Given the description of an element on the screen output the (x, y) to click on. 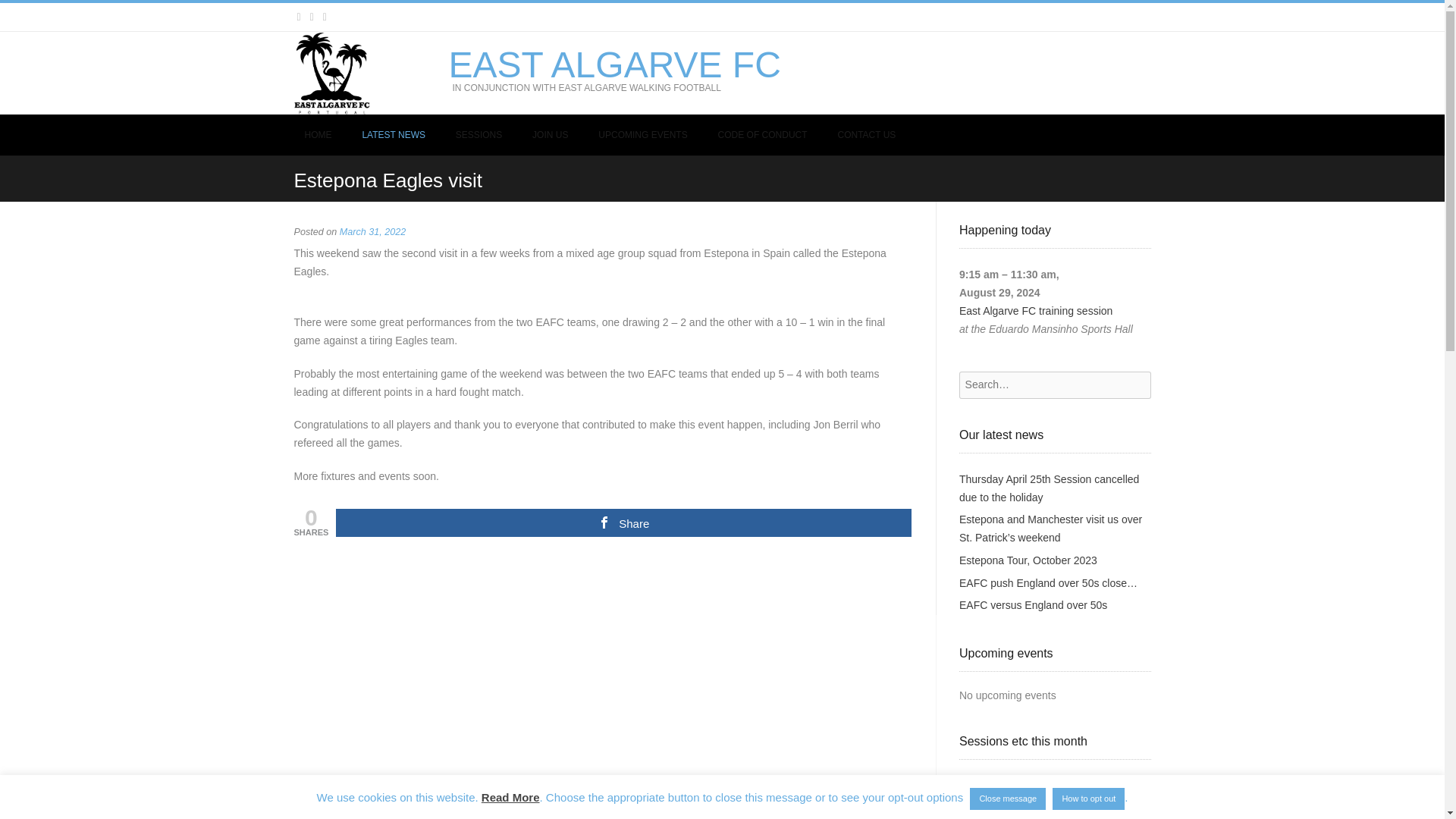
East Algarve FC (614, 64)
JOIN US (549, 134)
CODE OF CONDUCT (762, 134)
SESSIONS (478, 134)
HOME (318, 134)
LATEST NEWS (392, 134)
Thursday April 25th Session cancelled due to the holiday (1048, 488)
East Algarve FC training session (1035, 817)
East Algarve FC training session (1035, 310)
UPCOMING EVENTS (642, 134)
